Given the description of an element on the screen output the (x, y) to click on. 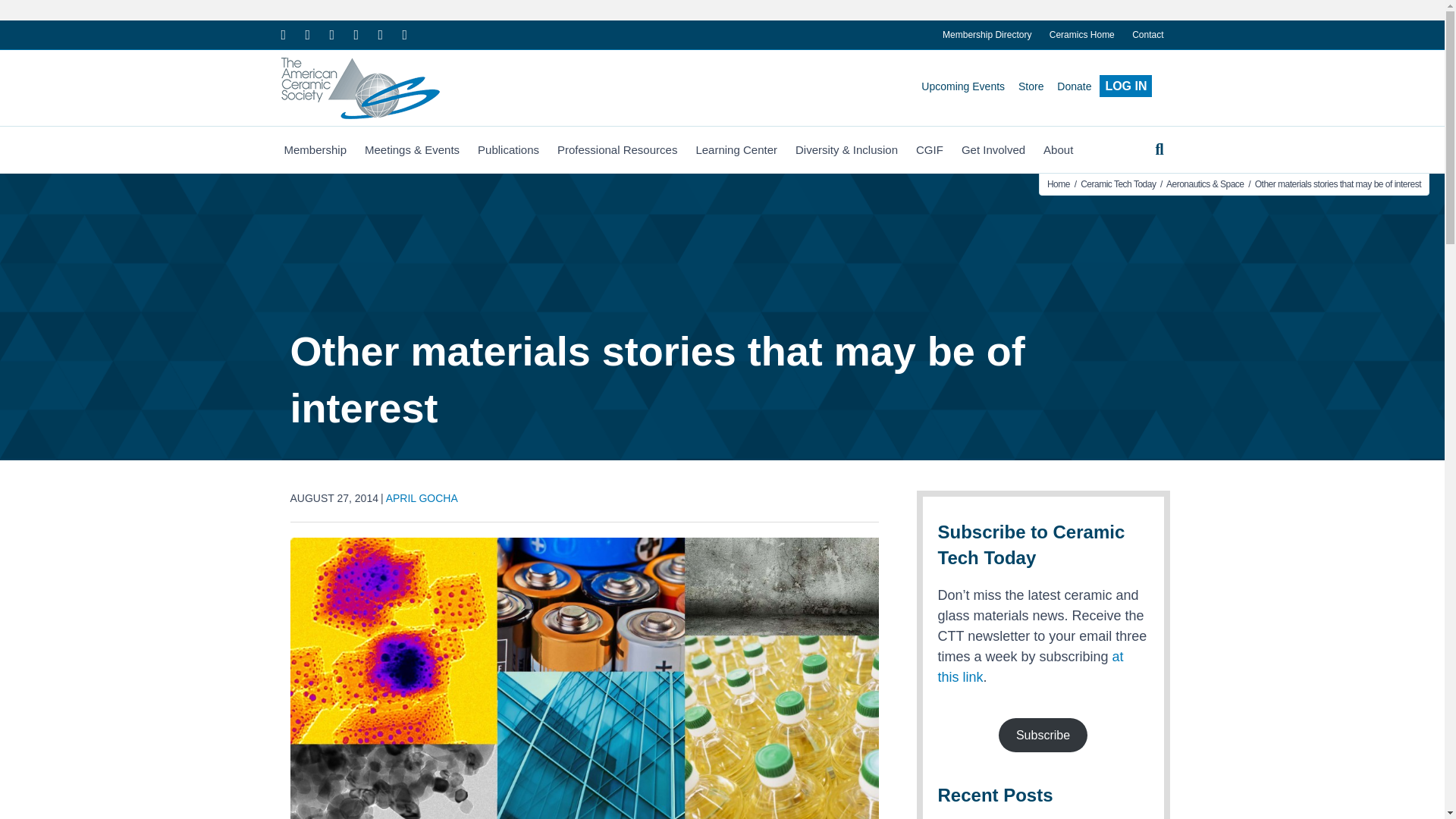
Go to the Ceramic Tech Today category archives. (1118, 184)
Go to The American Ceramic Society. (1058, 184)
